Given the description of an element on the screen output the (x, y) to click on. 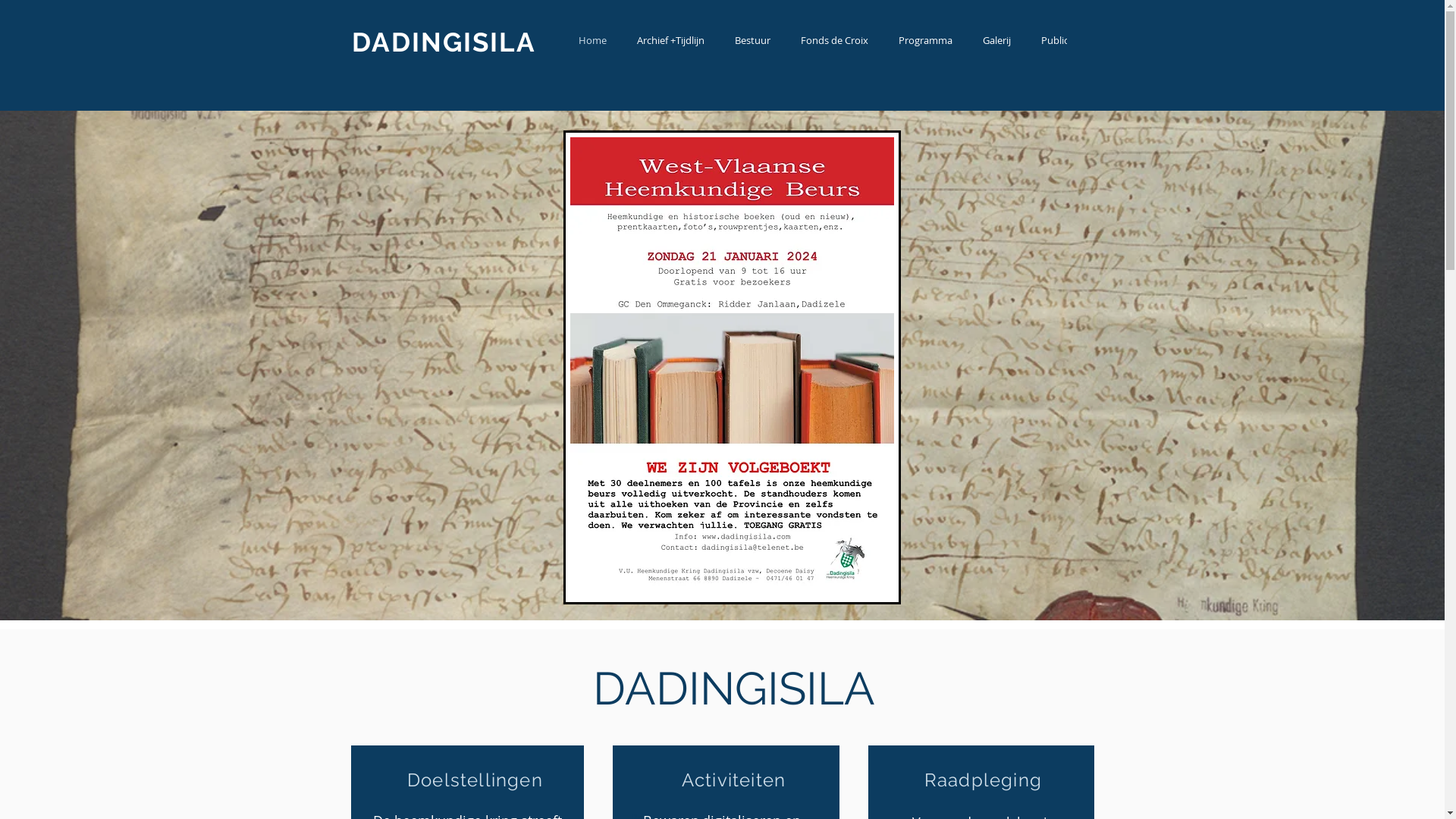
Programma Element type: text (924, 41)
Fonds de Croix Element type: text (834, 41)
Home Element type: text (591, 41)
Bestuur Element type: text (751, 41)
Archief +Tijdlijn Element type: text (670, 41)
Publicaties - boeken Element type: text (1085, 41)
Galerij Element type: text (996, 41)
